Given the description of an element on the screen output the (x, y) to click on. 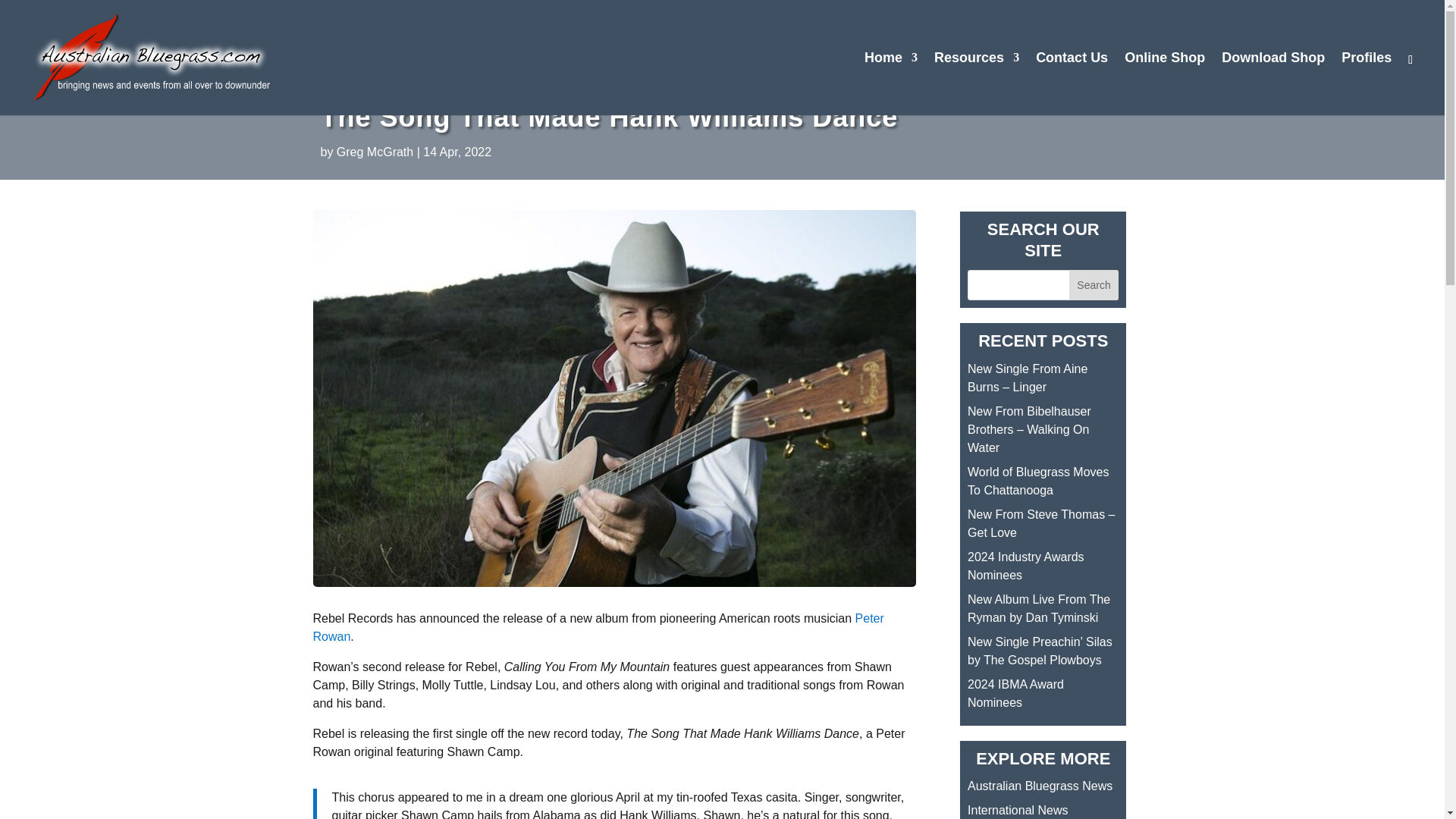
Posts by Greg McGrath (374, 151)
Search (1093, 285)
Online Shop (1164, 83)
Greg McGrath (374, 151)
Send an email from this web page (1071, 83)
Resources (976, 83)
Peter Rowan (598, 626)
Download Shop (1272, 83)
World of Bluegrass Moves To Chattanooga (1038, 481)
Contact Us (1071, 83)
Search (1093, 285)
